Given the description of an element on the screen output the (x, y) to click on. 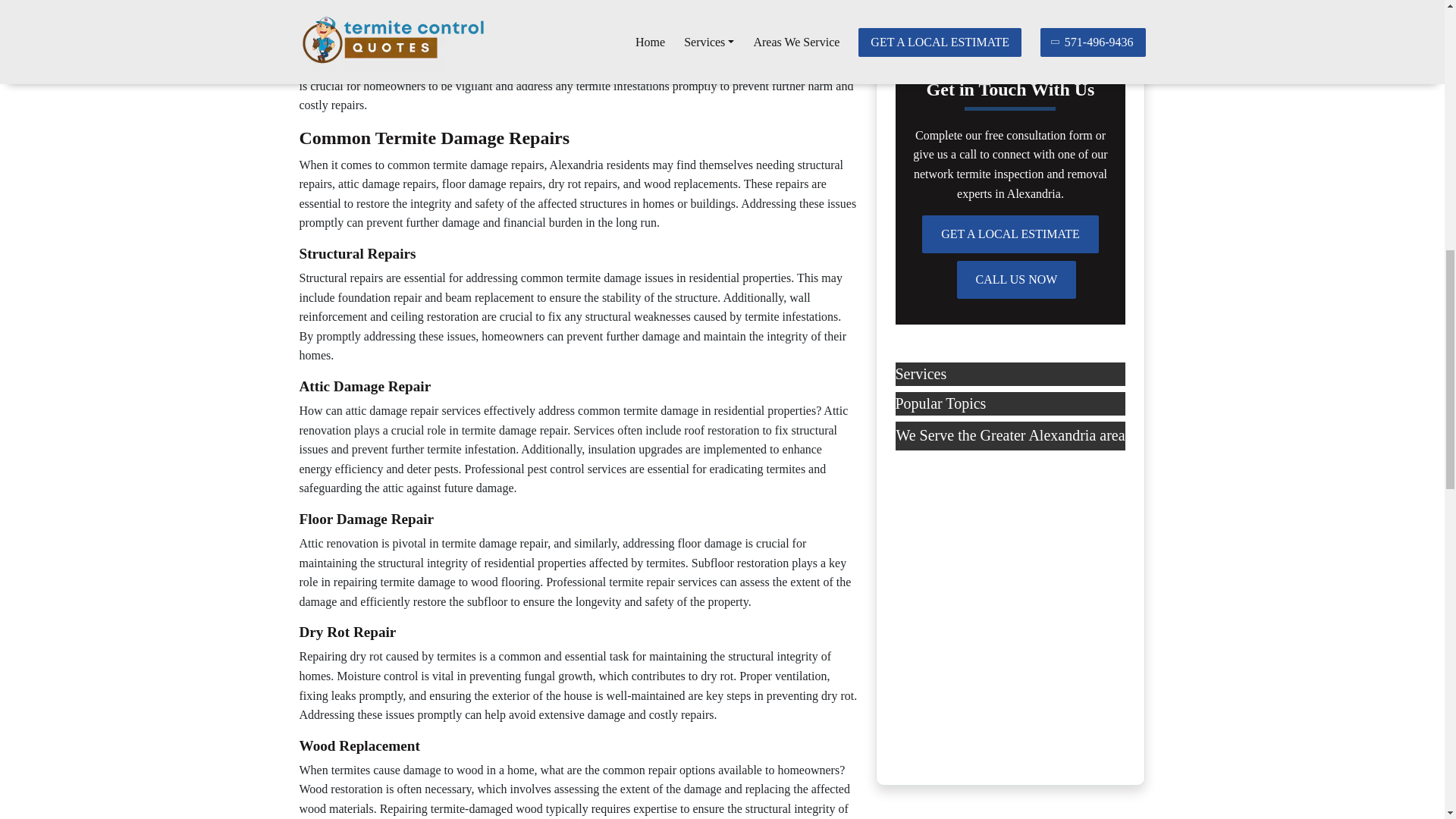
GET A LOCAL ESTIMATE (1010, 234)
CALL US NOW (1016, 279)
